Given the description of an element on the screen output the (x, y) to click on. 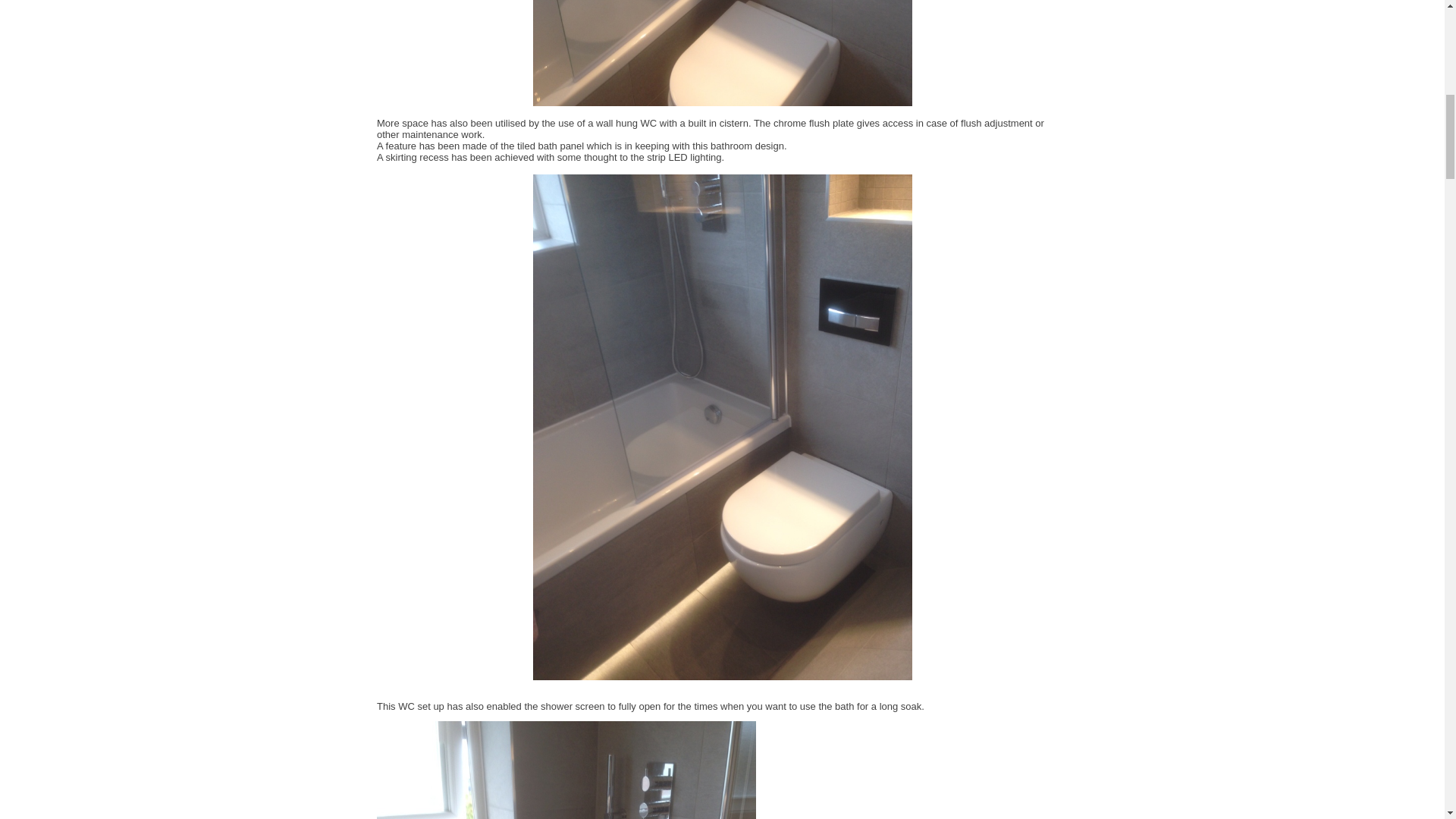
Michael Lowe Bathrooms (722, 64)
